Given the description of an element on the screen output the (x, y) to click on. 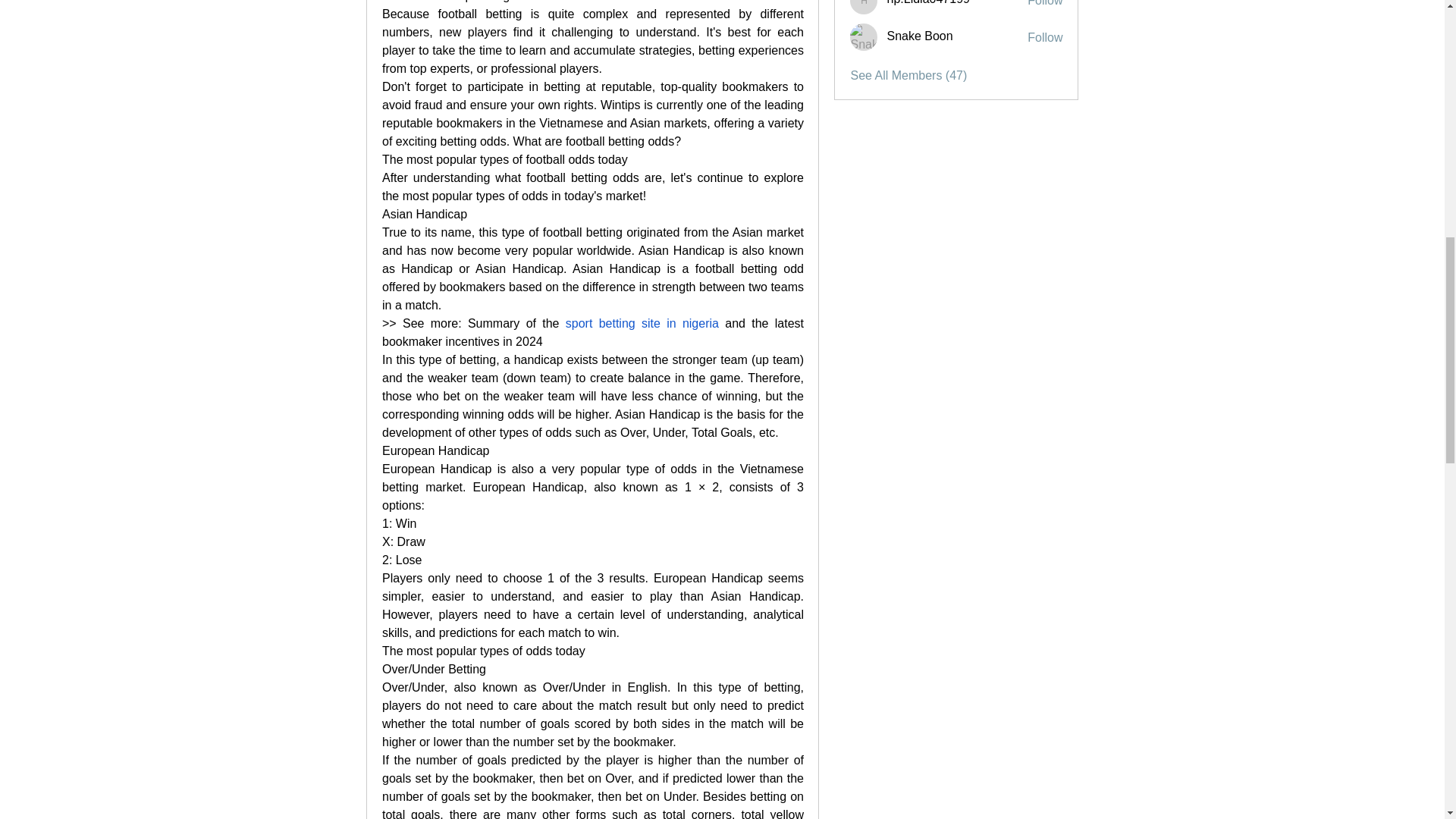
hp.Lidia047199 (927, 2)
Follow (1044, 4)
Snake Boon (863, 36)
hp.Lidia047199 (863, 7)
sport betting site in nigeria (640, 323)
